Given the description of an element on the screen output the (x, y) to click on. 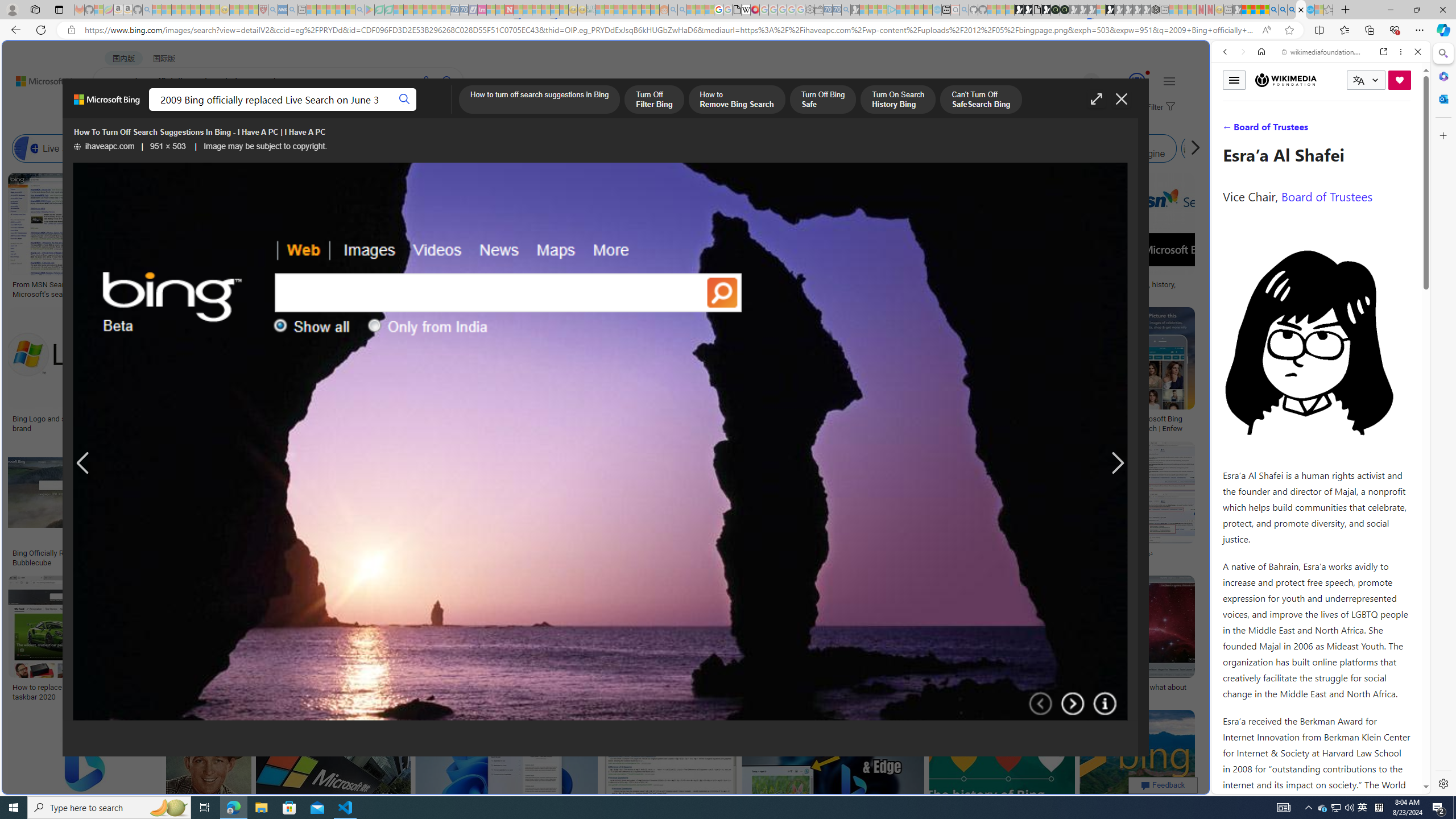
How to replace Bing in Windows 10 search on the taskbar 2020 (93, 691)
Recipes - MSN - Sleeping (234, 9)
google - Search - Sleeping (359, 9)
Microsoft Live LogoSave (421, 237)
Microsoft-Report a Concern to Bing - Sleeping (98, 9)
github - Search - Sleeping (964, 9)
Wiktionary (1315, 380)
Filter (1158, 107)
MORE (451, 111)
